Given the description of an element on the screen output the (x, y) to click on. 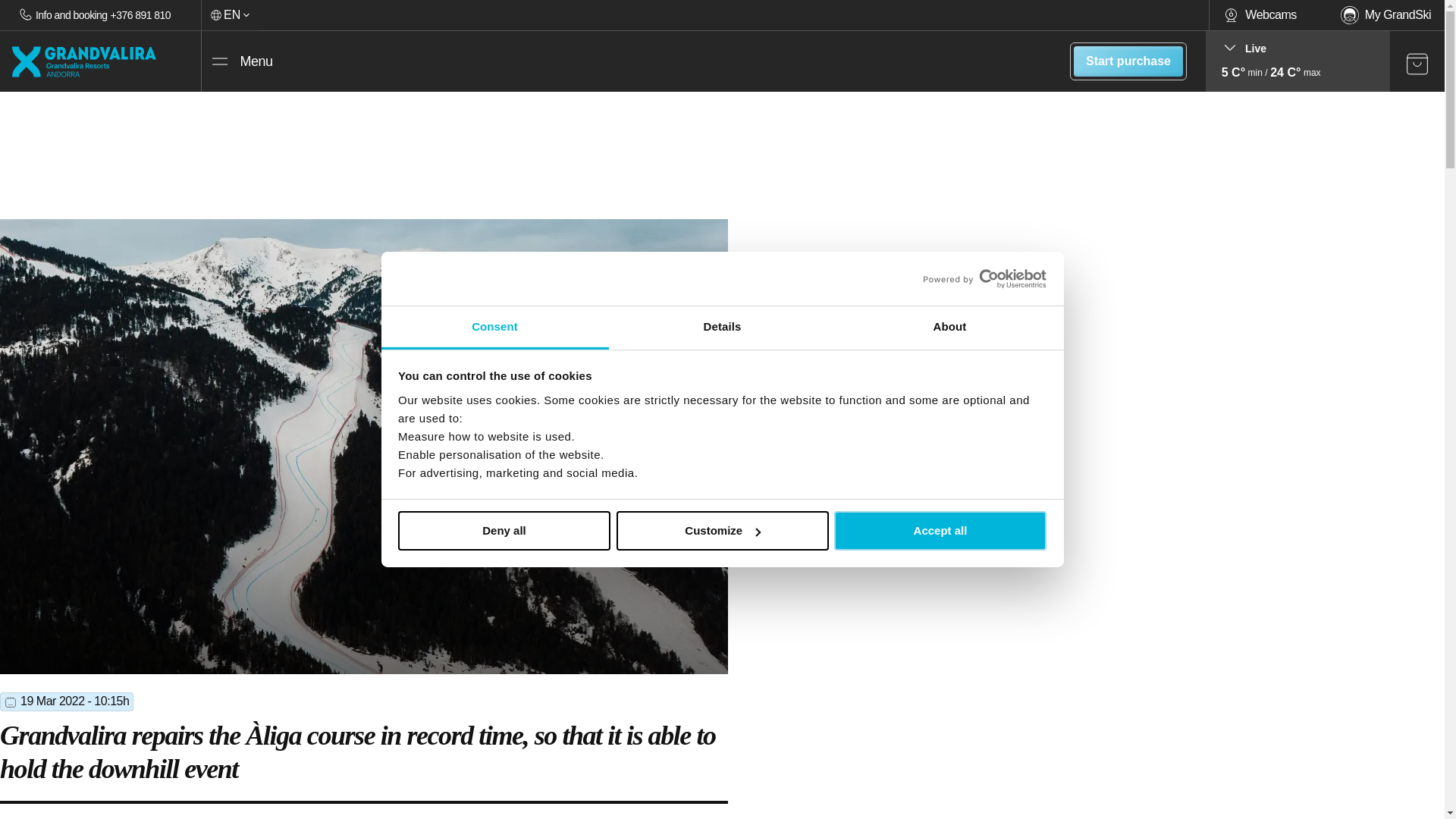
About (948, 327)
Details (721, 327)
Consent (494, 327)
